Given the description of an element on the screen output the (x, y) to click on. 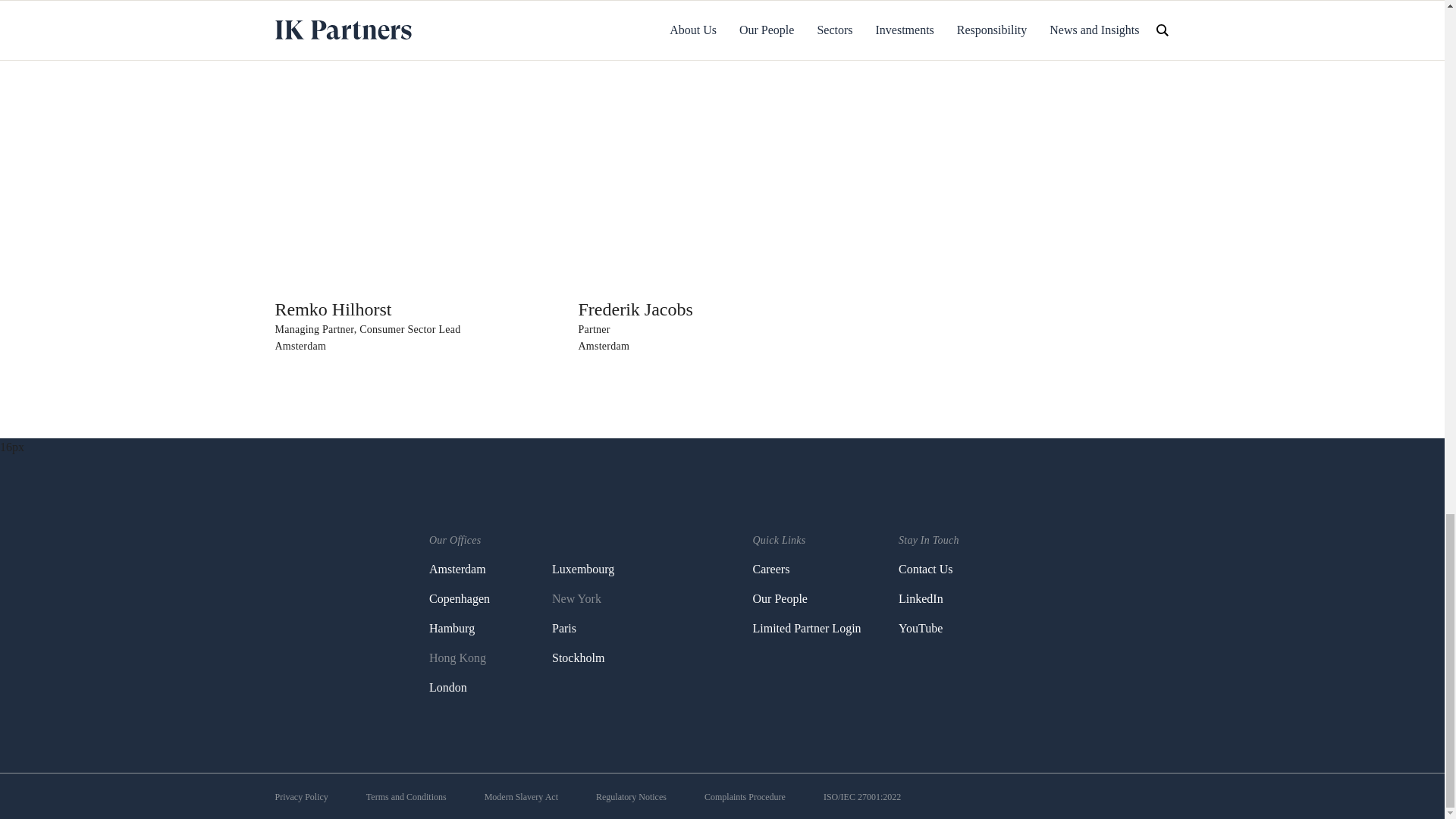
Frederik Jacobs (635, 309)
Copenhagen (459, 598)
Stockholm (577, 657)
Amsterdam (457, 568)
Luxembourg (582, 568)
Careers (770, 568)
Remko Hilhorst (333, 309)
Paris (563, 627)
London (448, 686)
Limited Partner Login (806, 627)
